Given the description of an element on the screen output the (x, y) to click on. 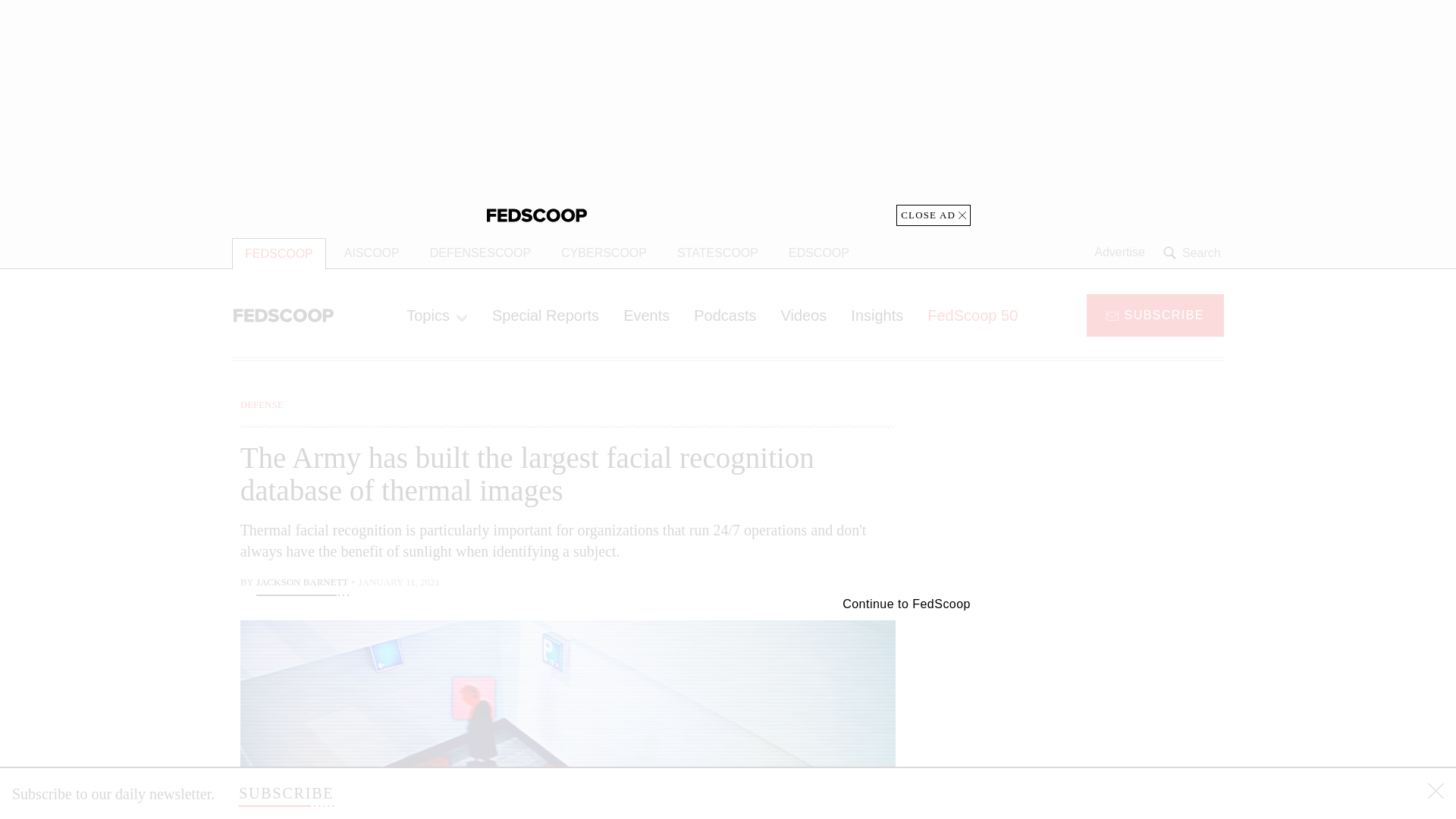
Search (1193, 252)
Videos (804, 315)
3rd party ad content (1101, 714)
Special Reports (545, 315)
DEFENSE (261, 404)
Topics (437, 315)
FEDSCOOP (278, 253)
SUBSCRIBE (285, 793)
SUBSCRIBE (1155, 314)
JACKSON BARNETT (302, 583)
3rd party ad content (727, 113)
EDSCOOP (818, 253)
AISCOOP (371, 253)
